Given the description of an element on the screen output the (x, y) to click on. 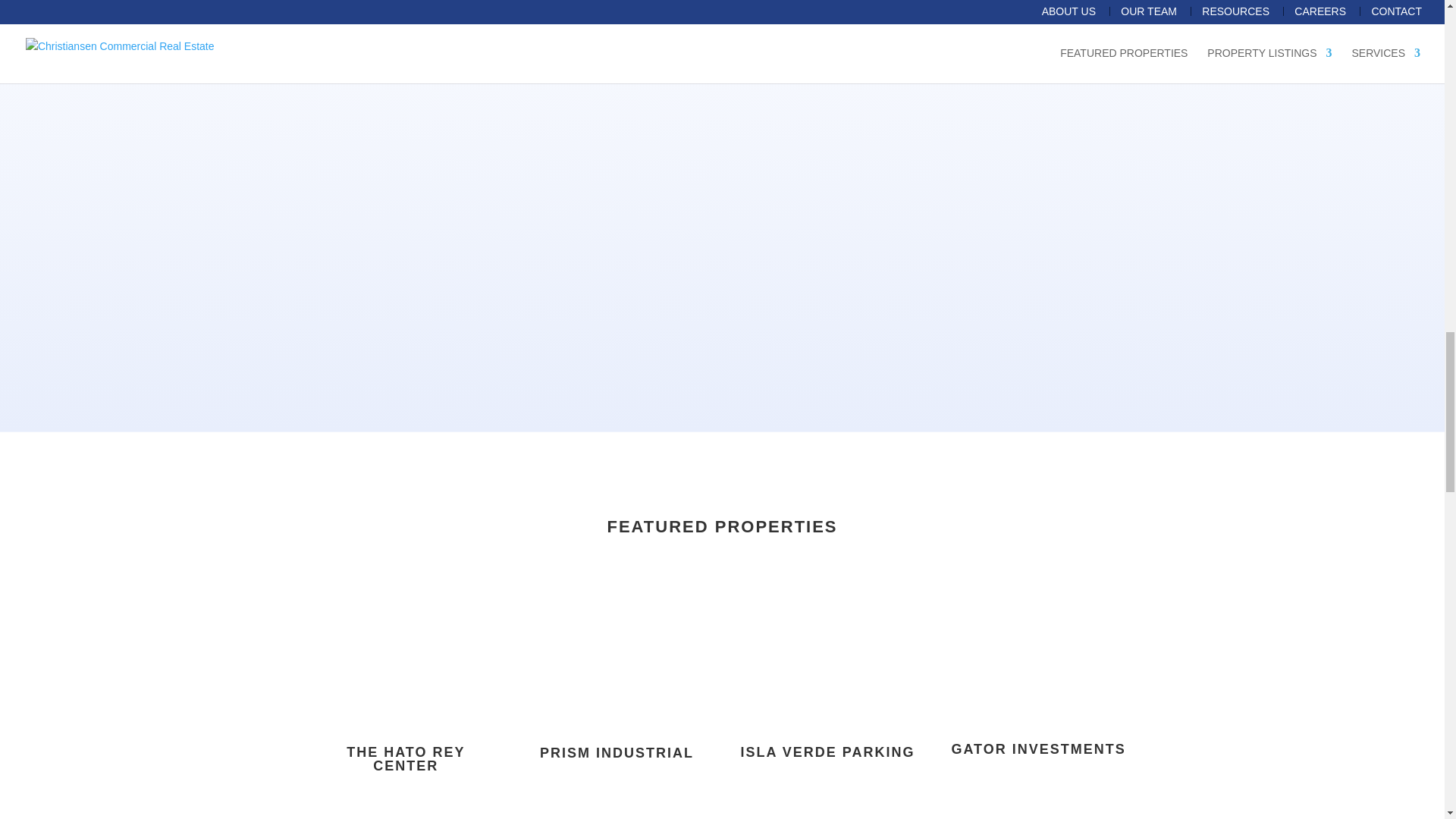
GATOR INVESTMENTS (1037, 749)
THE HATO REY CENTER (405, 758)
PRISM INDUSTRIAL (617, 752)
ISLA VERDE PARKING (826, 752)
